Given the description of an element on the screen output the (x, y) to click on. 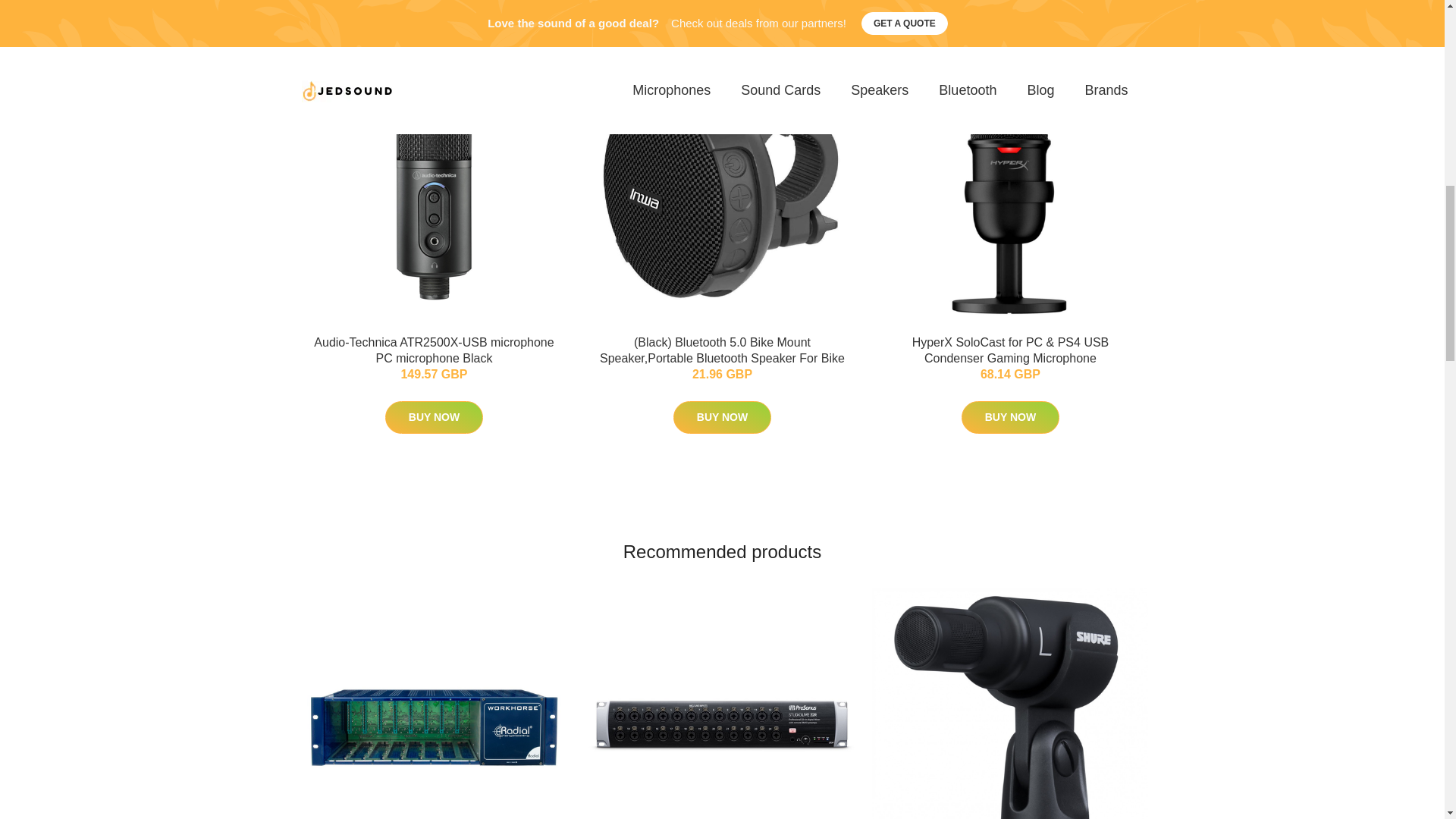
BUY NOW (434, 417)
BUY NOW (1009, 417)
Audio-Technica ATR2500X-USB microphone PC microphone Black (433, 349)
BUY NOW (721, 417)
